Given the description of an element on the screen output the (x, y) to click on. 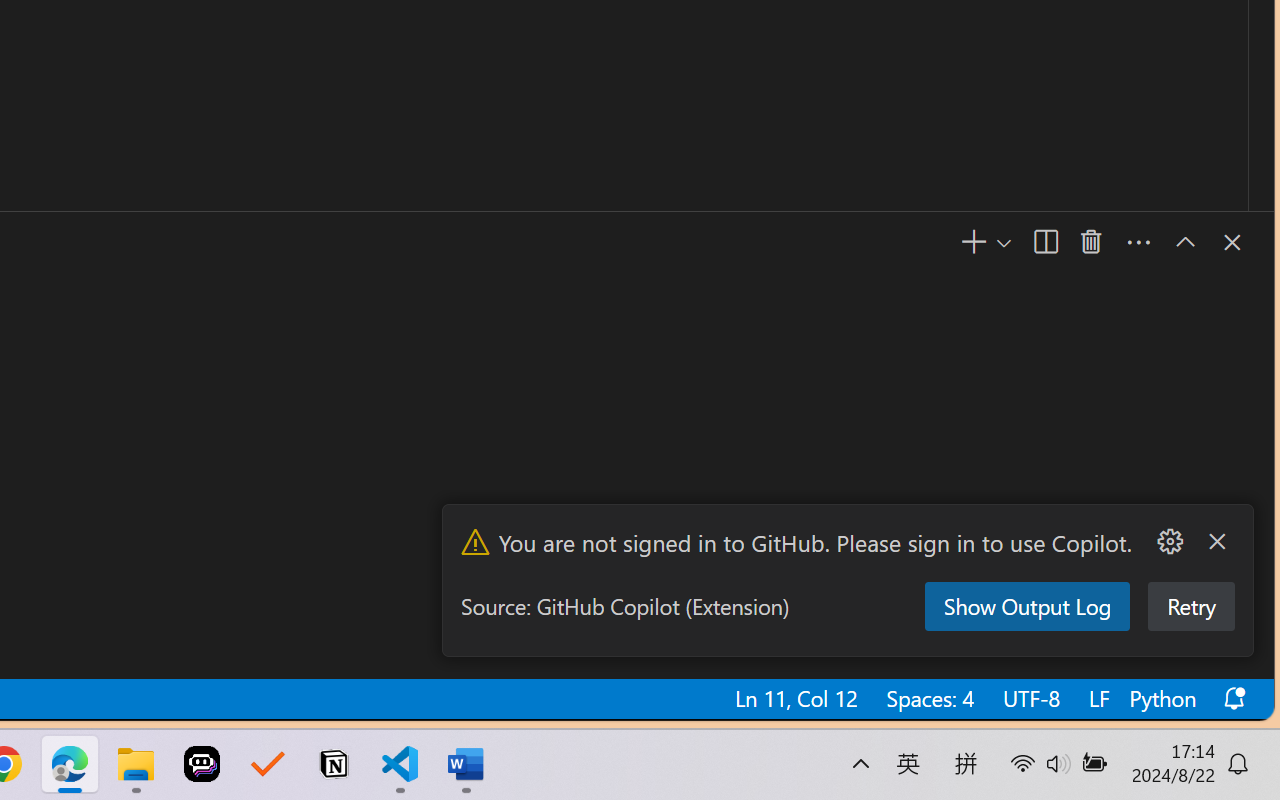
Views and More Actions... (1137, 243)
